Given the description of an element on the screen output the (x, y) to click on. 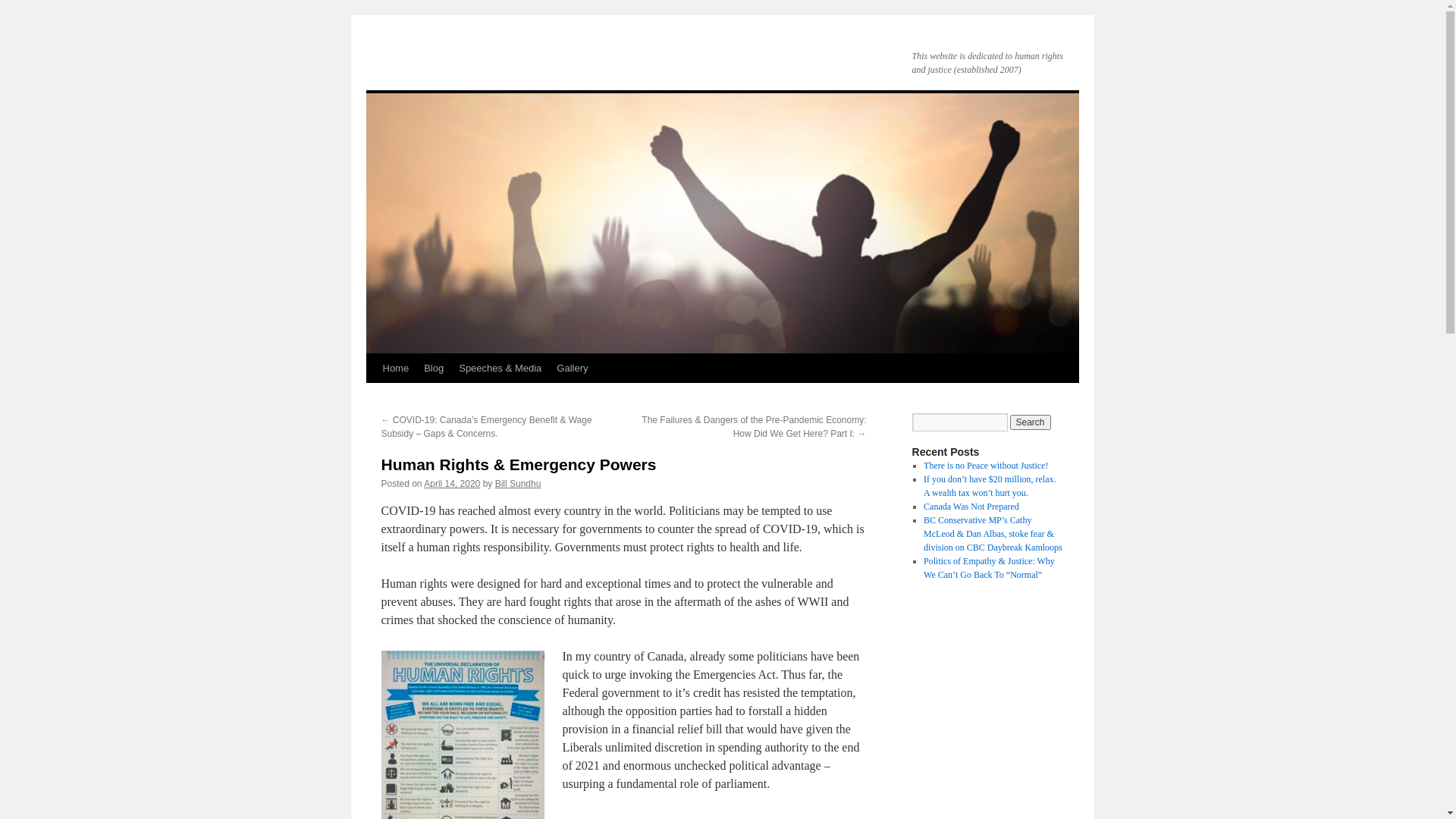
Bill Sundhu Element type: text (518, 483)
There is no Peace without Justice! Element type: text (985, 465)
Canada Was Not Prepared Element type: text (971, 506)
April 14, 2020 Element type: text (451, 483)
Search Element type: text (1030, 421)
Blog Element type: text (433, 368)
Home Element type: text (395, 368)
Skip to content Element type: text (372, 396)
Speeches & Media Element type: text (500, 368)
Gallery Element type: text (572, 368)
